Given the description of an element on the screen output the (x, y) to click on. 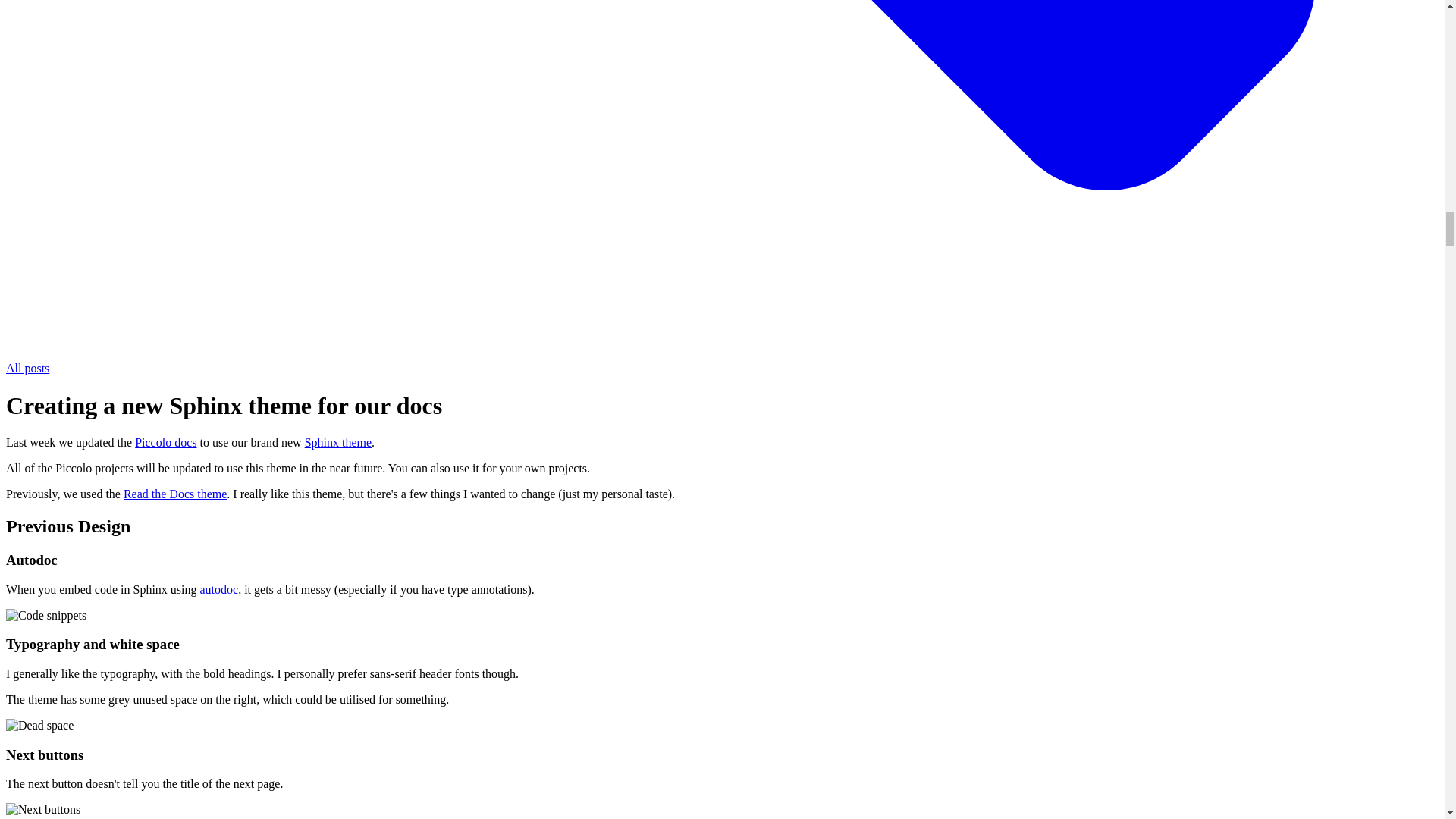
autodoc (219, 589)
Piccolo docs (165, 441)
Sphinx theme (337, 441)
Read the Docs theme (175, 493)
